Given the description of an element on the screen output the (x, y) to click on. 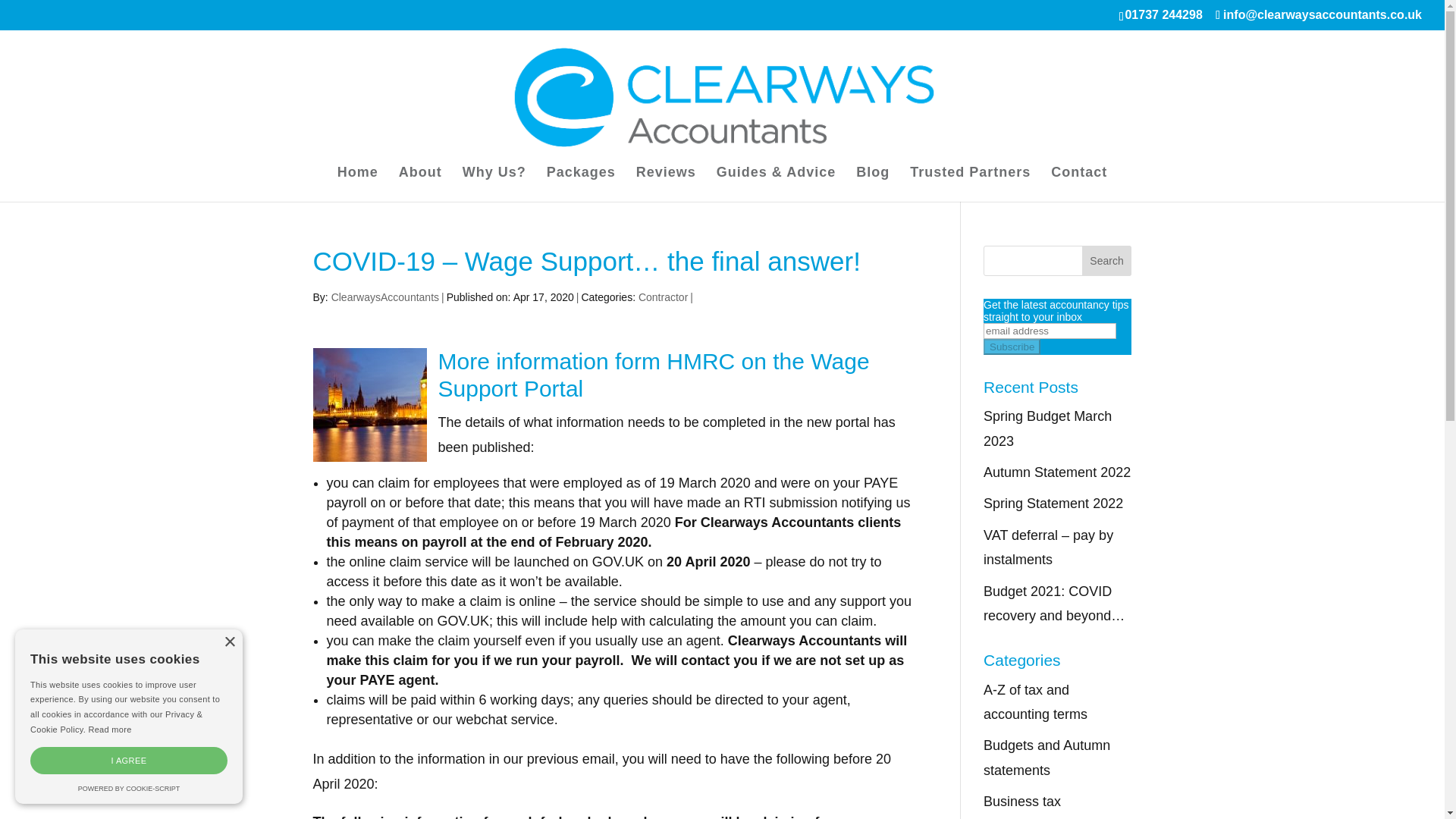
Subscribe (1012, 346)
Search (1106, 260)
Posts by ClearwaysAccountants (385, 297)
Home (357, 184)
Packages (581, 184)
Reviews (665, 184)
About (420, 184)
Budgets and Autumn statements (1046, 757)
Business tax (1022, 801)
Why Us? (494, 184)
A-Z of tax and accounting terms (1035, 701)
Trusted Partners (970, 184)
Contractor (663, 297)
Blog (872, 184)
Spring Budget March 2023 (1048, 427)
